Given the description of an element on the screen output the (x, y) to click on. 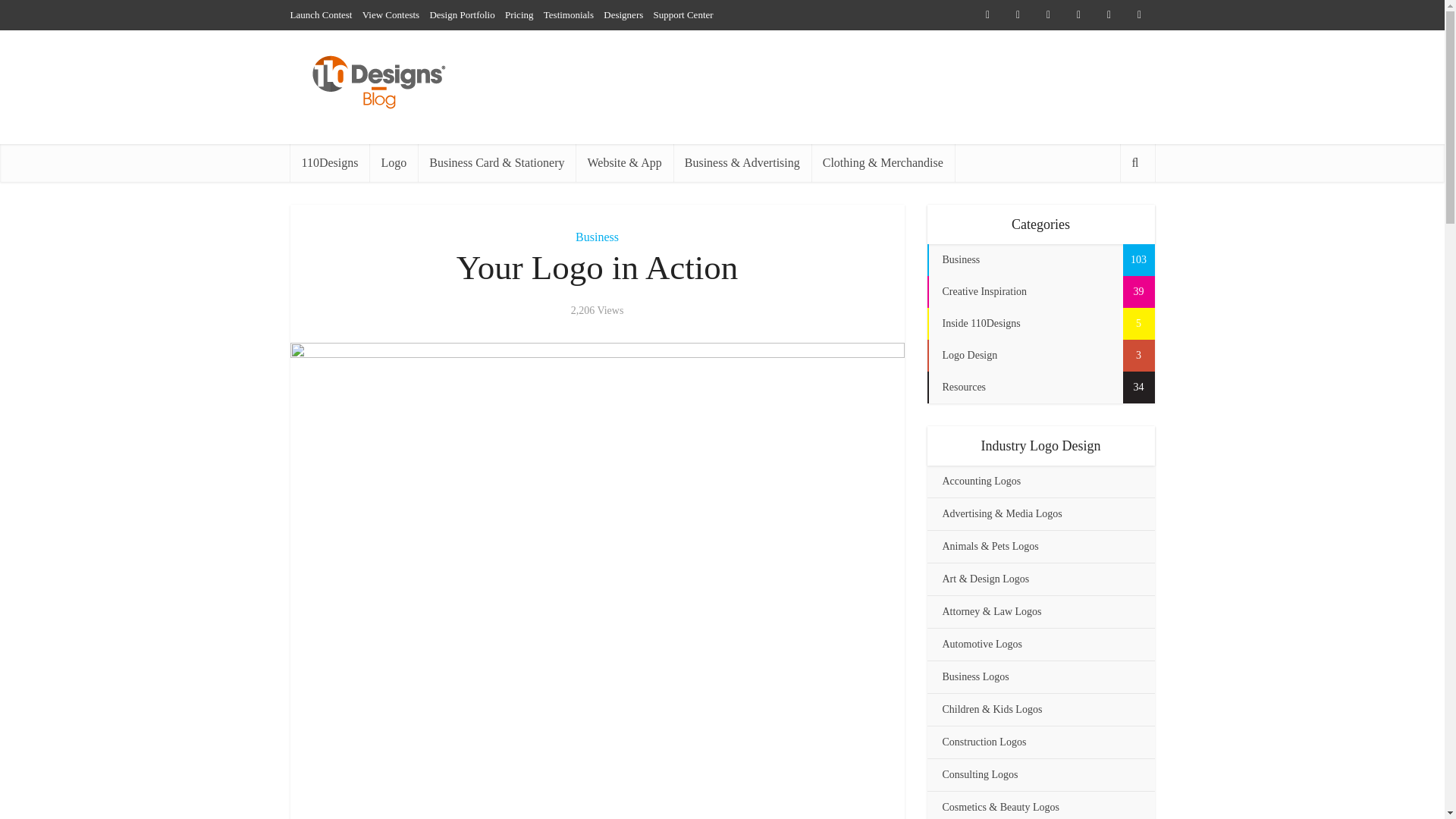
Testimonials (568, 14)
Pricing (519, 14)
Design Portfolio (462, 14)
110Designs Blog (377, 83)
Support Center (683, 14)
Business (596, 236)
Logo (393, 162)
Advertisement (878, 87)
Advertisement (597, 799)
110Designs (329, 162)
View Contests (390, 14)
Launch Contest (320, 14)
Designers (623, 14)
